Given the description of an element on the screen output the (x, y) to click on. 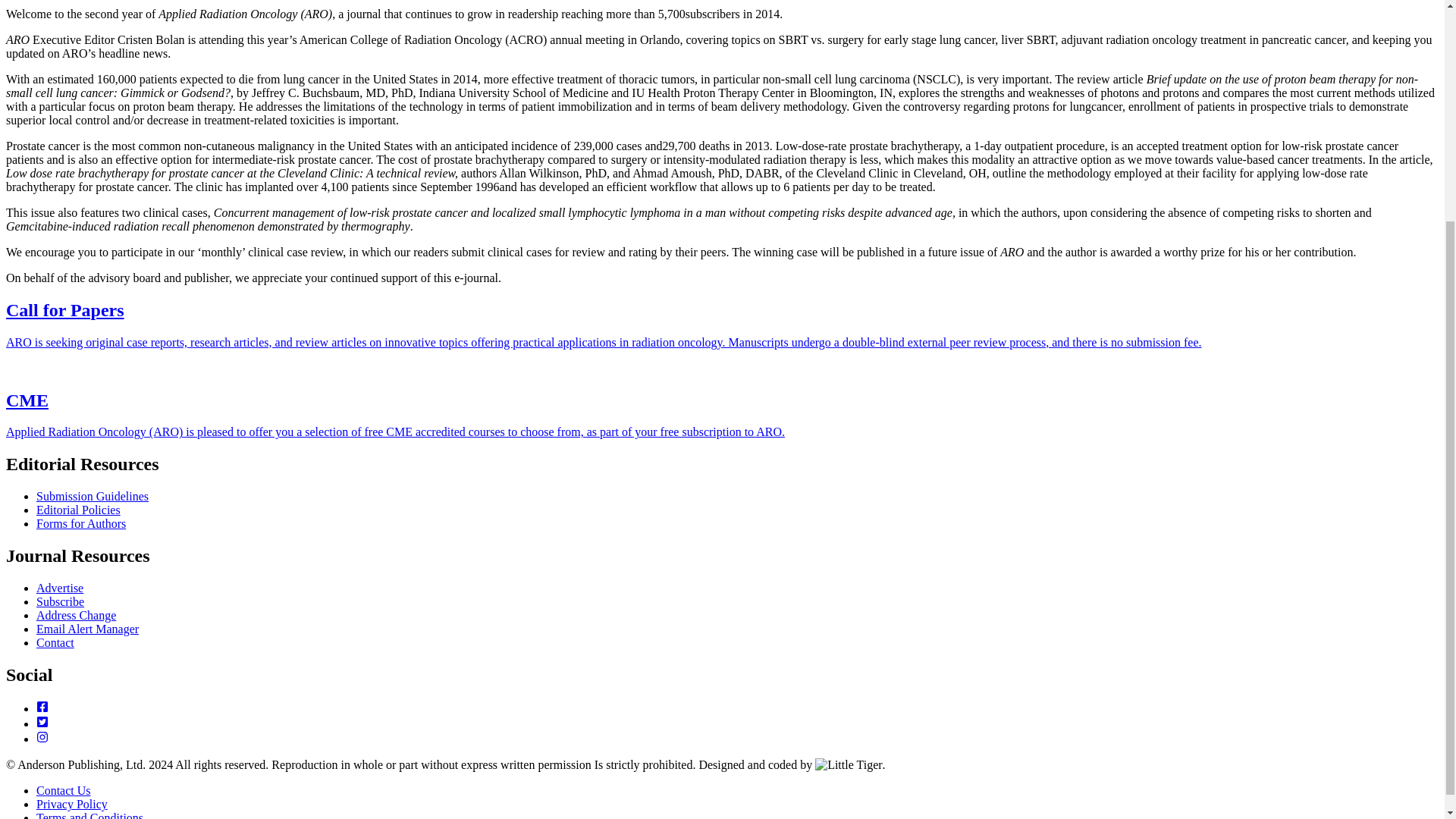
Subscribe (60, 601)
Contact (55, 642)
Privacy Policy (71, 803)
Address Change (76, 615)
Email Alert Manager (87, 628)
Contact Us (63, 789)
Forms for Authors (80, 522)
Submission Guidelines (92, 495)
Editorial Policies (78, 509)
Advertise (59, 587)
